Given the description of an element on the screen output the (x, y) to click on. 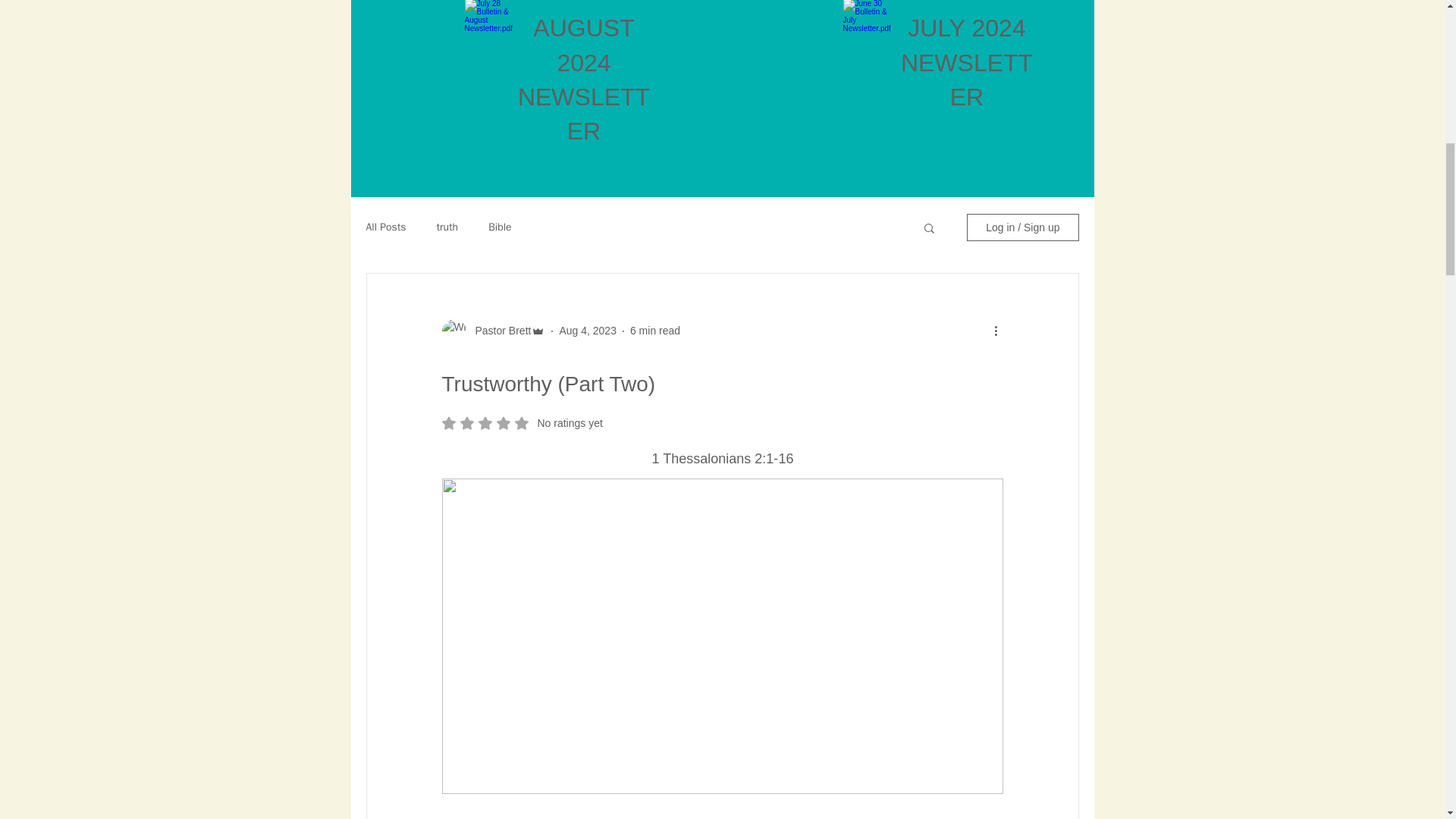
truth (447, 227)
Pastor Brett (498, 330)
1 Thessalonians 2:1- (521, 422)
All Posts (713, 458)
Bible (385, 227)
Aug 4, 2023 (499, 227)
6 min read (587, 330)
